Given the description of an element on the screen output the (x, y) to click on. 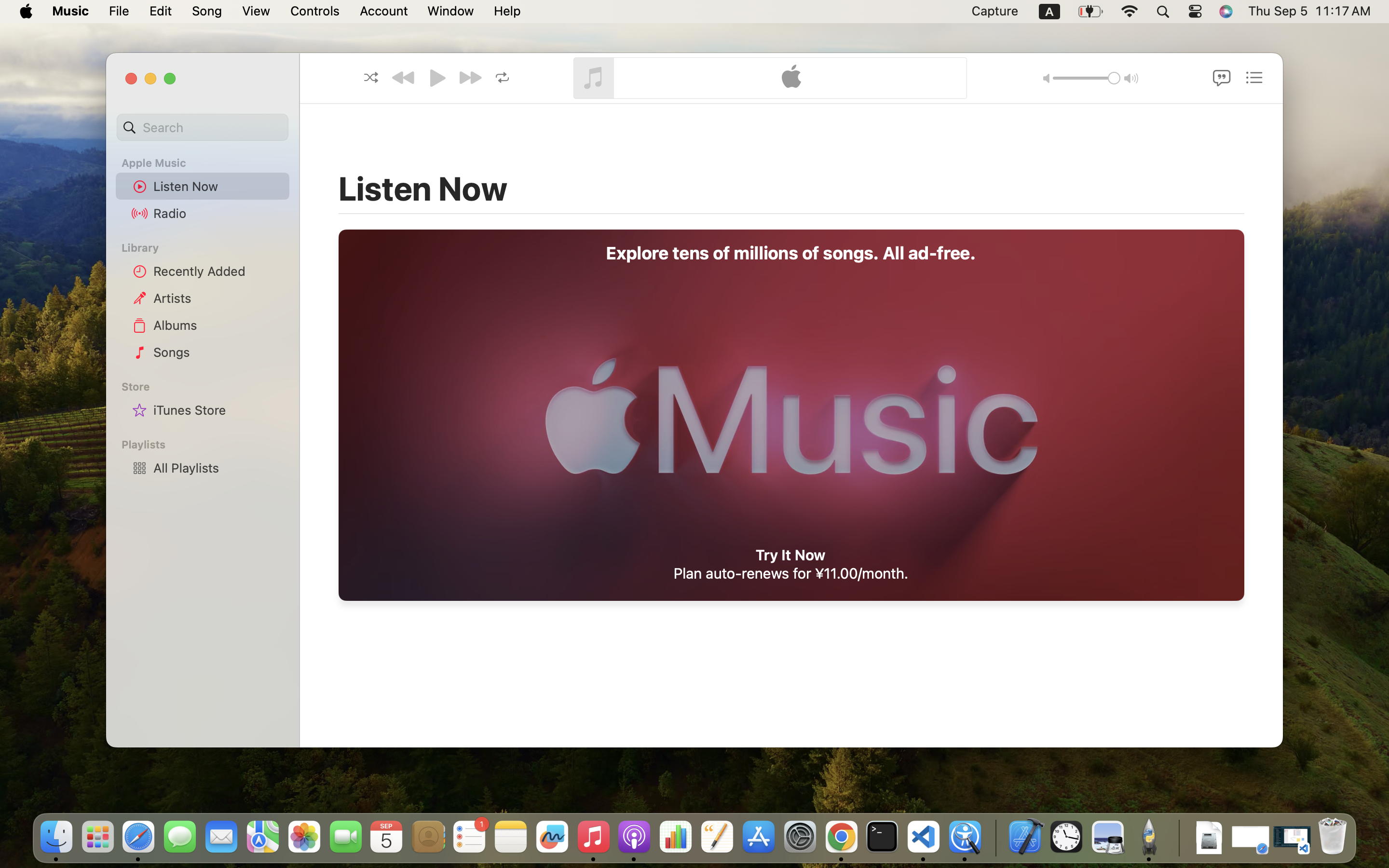
Apple Music Element type: AXStaticText (208, 162)
Listen Now Element type: AXStaticText (217, 185)
Explore tens of millions of songs. All ad-free. Element type: AXStaticText (790, 253)
Library Element type: AXStaticText (201, 247)
